Given the description of an element on the screen output the (x, y) to click on. 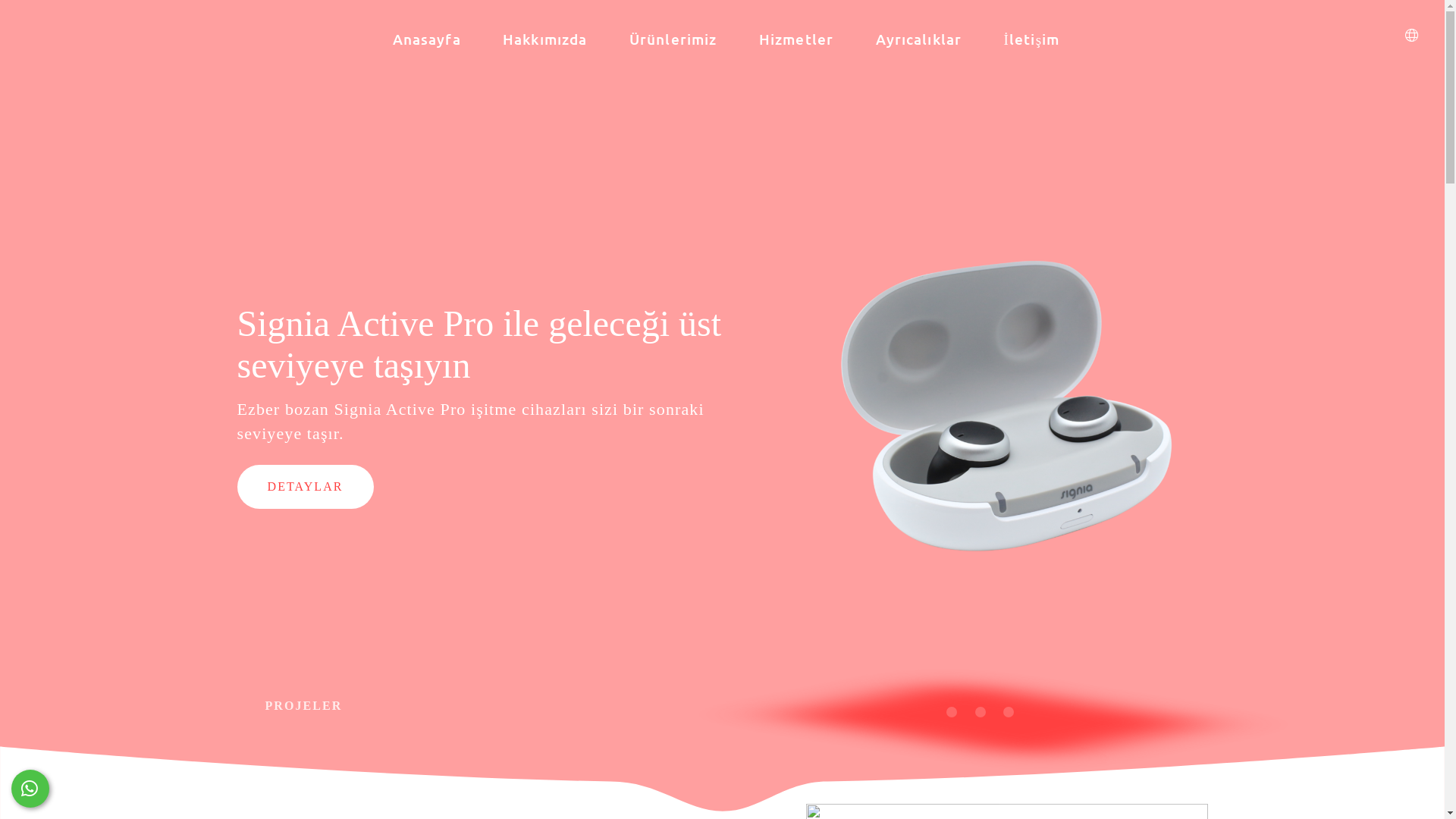
WhatsApp Element type: hover (30, 788)
PROJELER Element type: text (301, 705)
Hizmetler Element type: text (796, 39)
Anasayfa Element type: text (426, 39)
DETAYLAR Element type: text (304, 486)
